Given the description of an element on the screen output the (x, y) to click on. 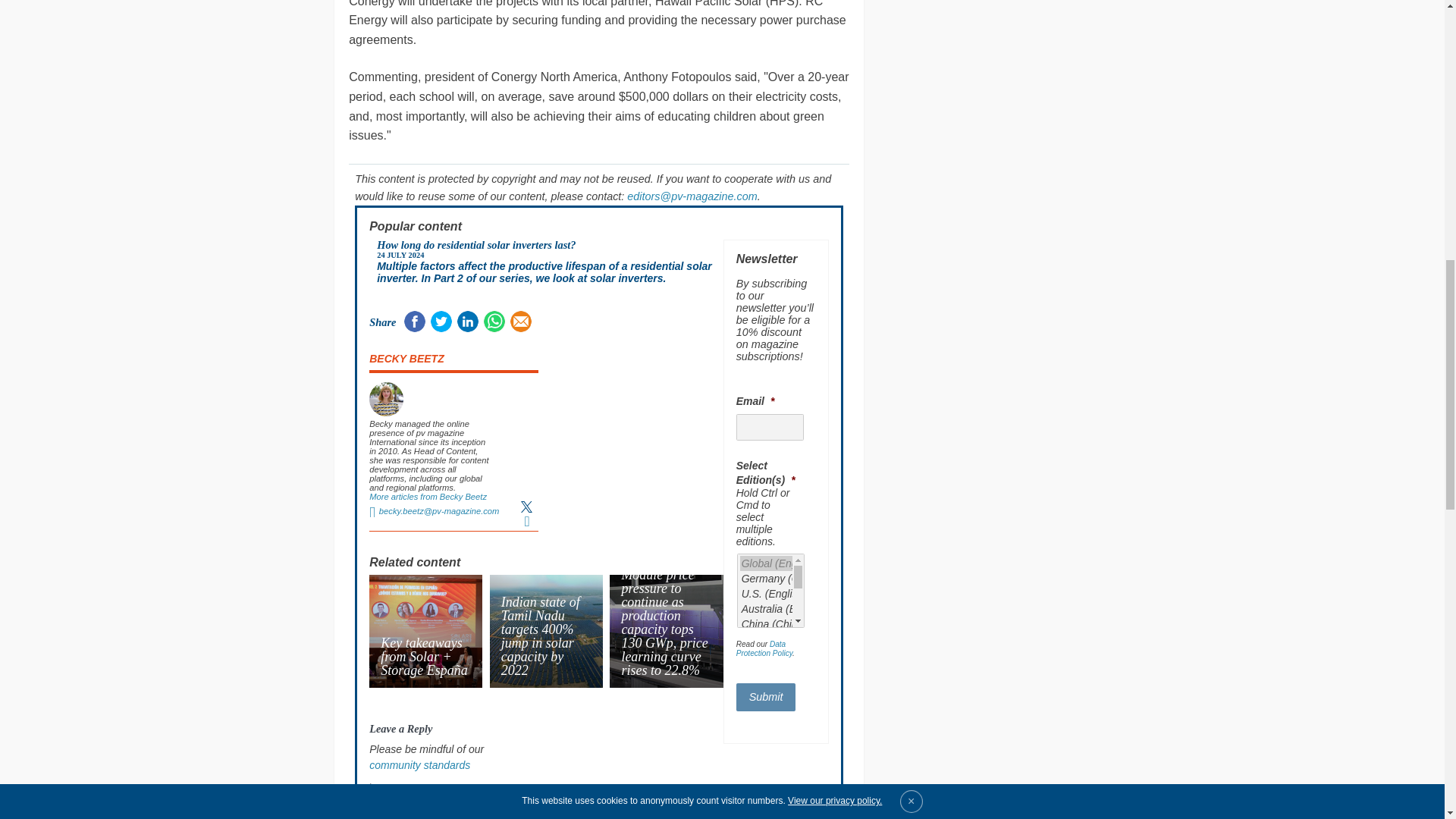
Submit (766, 697)
3rd party ad content (775, 793)
